Given the description of an element on the screen output the (x, y) to click on. 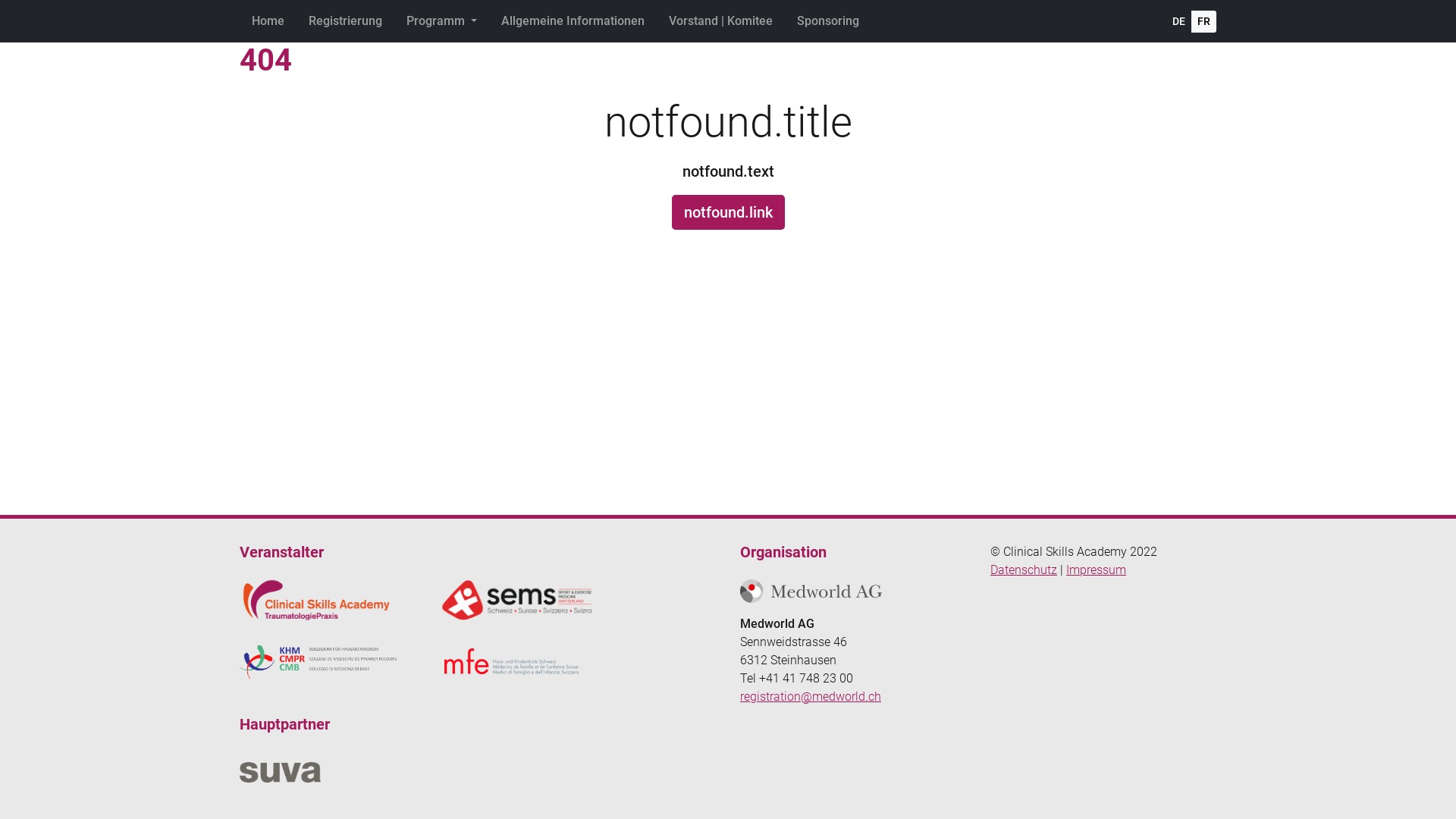
Datenschutz Element type: text (1023, 569)
Impressum Element type: text (1096, 569)
Vorstand | Komitee Element type: text (720, 21)
FR Element type: text (1203, 21)
notfound.link Element type: text (727, 211)
registration@medworld.ch Element type: text (810, 696)
DE Element type: text (1178, 21)
Home Element type: text (267, 21)
Registrierung Element type: text (345, 21)
Allgemeine Informationen Element type: text (572, 21)
Programm Element type: text (441, 21)
Sponsoring Element type: text (827, 21)
